Given the description of an element on the screen output the (x, y) to click on. 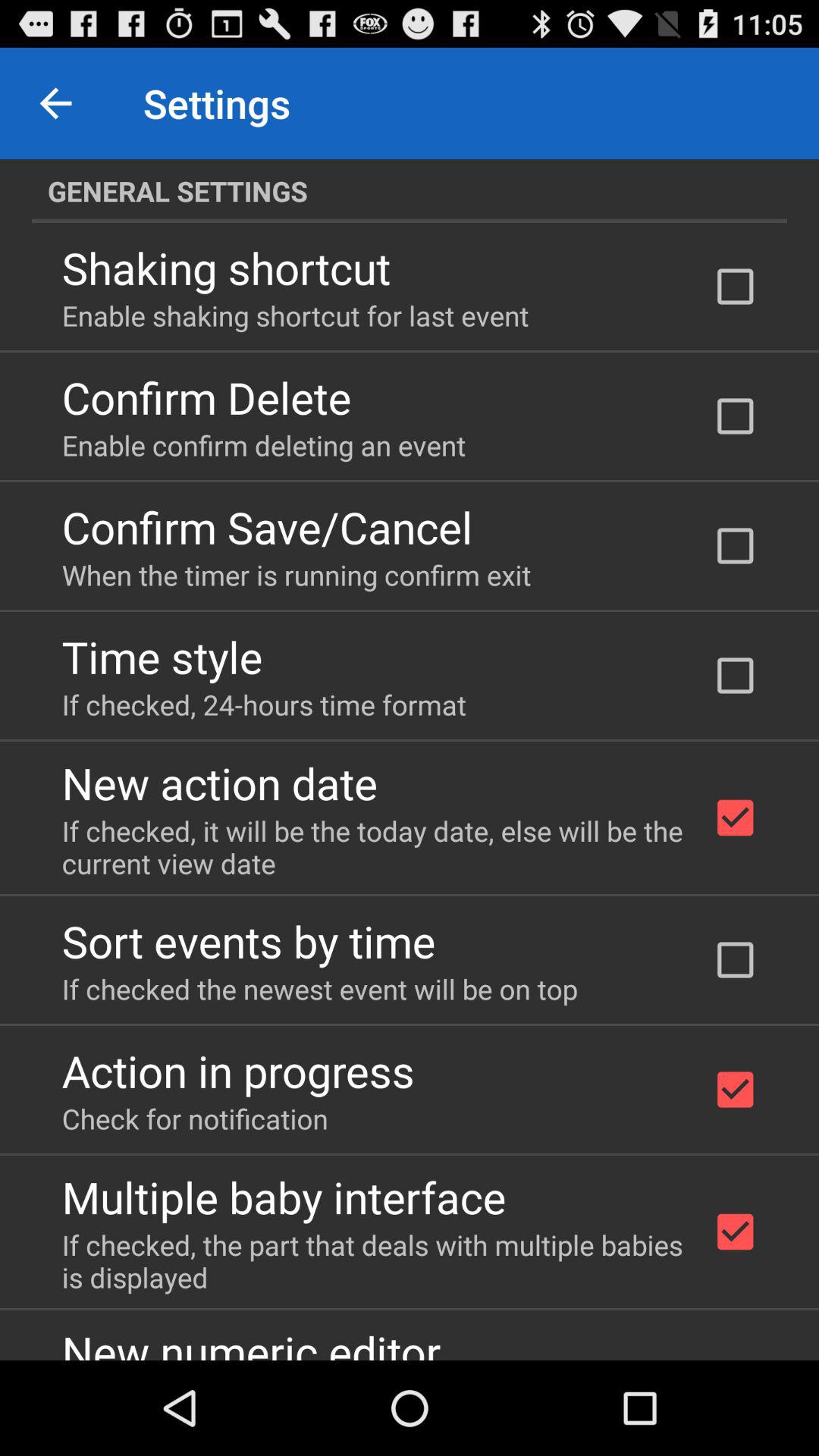
turn off item next to settings icon (55, 103)
